Given the description of an element on the screen output the (x, y) to click on. 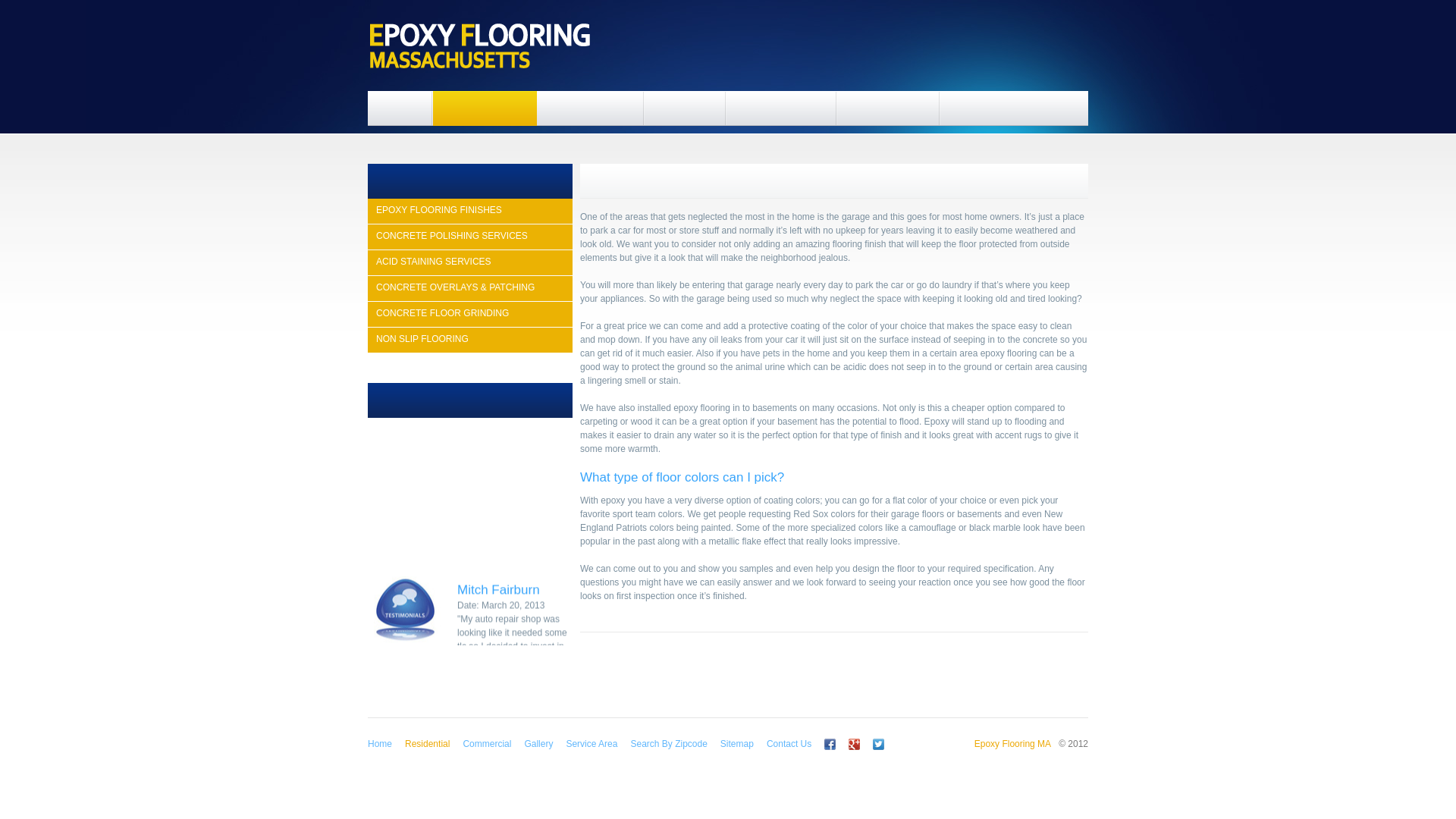
Epoxy Flooring MA (1012, 743)
Gallery (538, 743)
Sitemap (737, 743)
Home (379, 743)
Epoxy Flooring MA (480, 46)
Epoxy Flooring MA Twitter (877, 743)
Residential (426, 743)
Contact Us (788, 743)
Epoxy Flooring MA (1012, 743)
Epoxy Flooring MA Twitter (967, 743)
Epoxy Flooring MA (480, 46)
Commercial (487, 743)
Search By Zipcode (668, 743)
Service Area (591, 743)
Epoxy Flooring MA Facebook (829, 743)
